Given the description of an element on the screen output the (x, y) to click on. 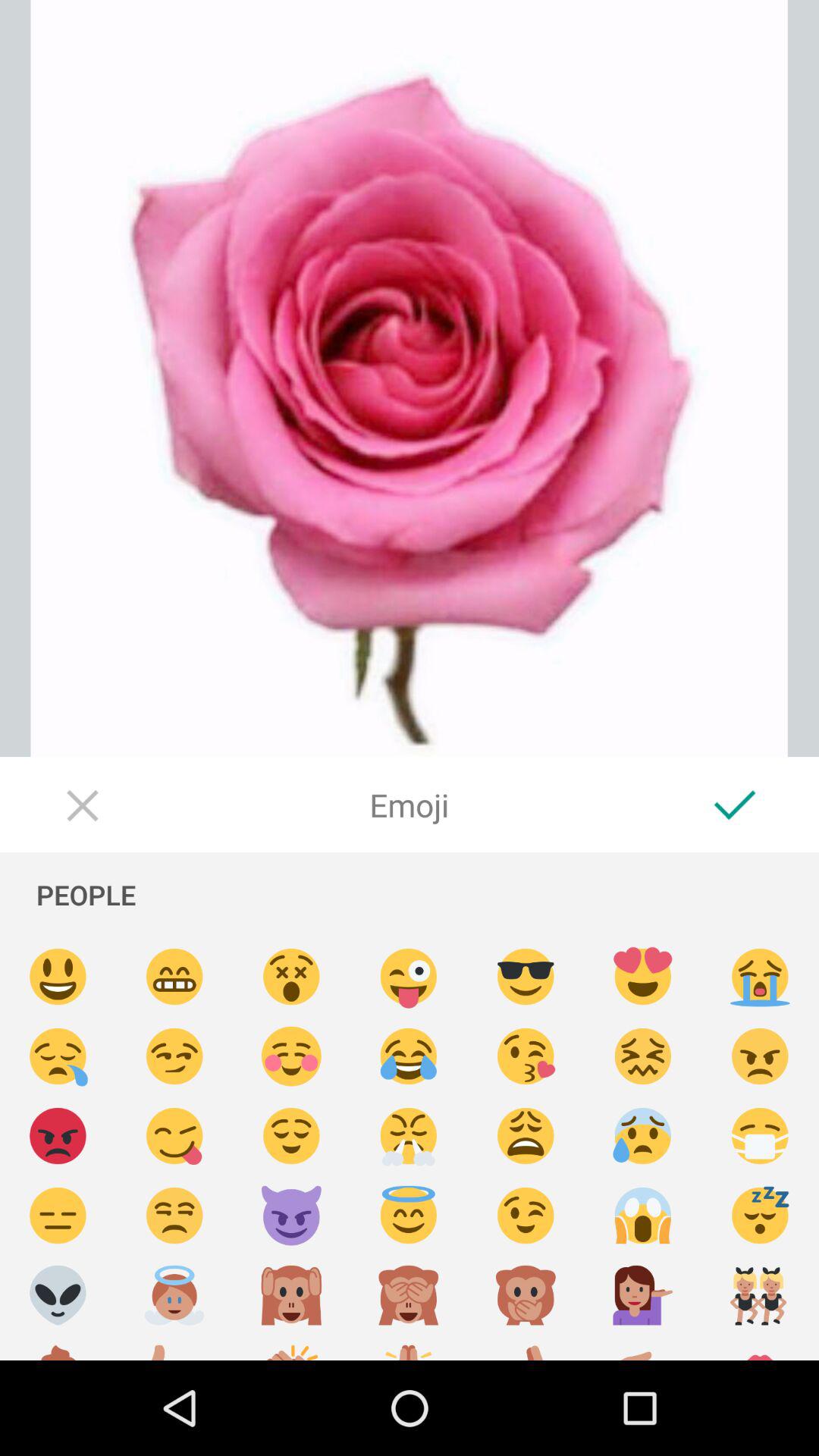
selects an emoji to be used in the picture (525, 1215)
